Given the description of an element on the screen output the (x, y) to click on. 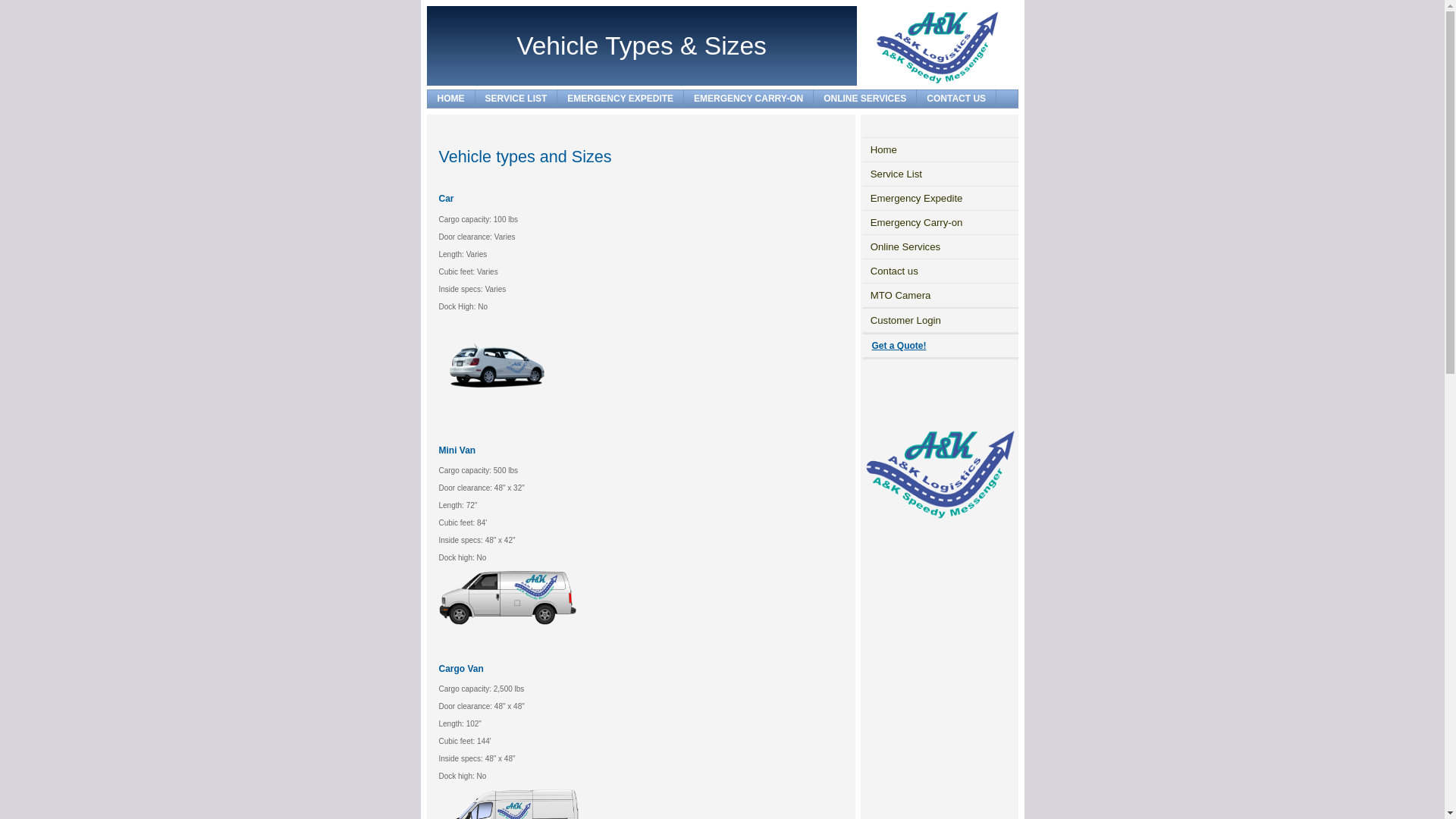
EMERGENCY EXPEDITE Element type: text (620, 98)
HOME Element type: text (451, 98)
Service List Element type: text (940, 173)
SERVICE LIST Element type: text (515, 98)
Emergency Expedite Element type: text (940, 198)
Online Services Element type: text (940, 246)
Contact us Element type: text (940, 270)
ONLINE SERVICES Element type: text (864, 98)
Customer Login Element type: text (940, 320)
MTO Camera Element type: text (940, 295)
EMERGENCY CARRY-ON Element type: text (748, 98)
CONTACT US Element type: text (956, 98)
Emergency Carry-on Element type: text (940, 222)
Get a Quote! Element type: text (899, 345)
Home Element type: text (940, 149)
